Given the description of an element on the screen output the (x, y) to click on. 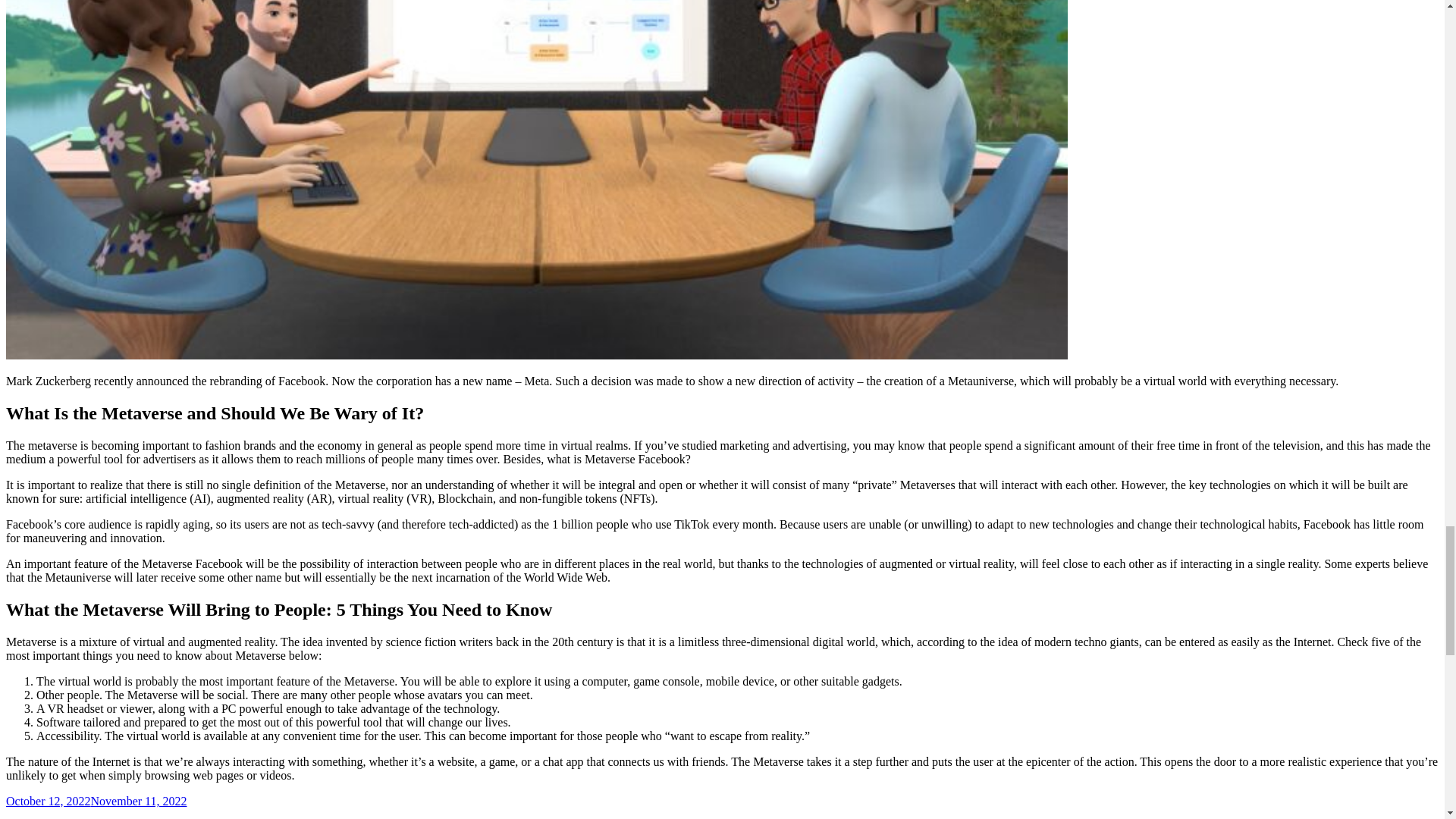
October 12, 2022November 11, 2022 (95, 800)
